Given the description of an element on the screen output the (x, y) to click on. 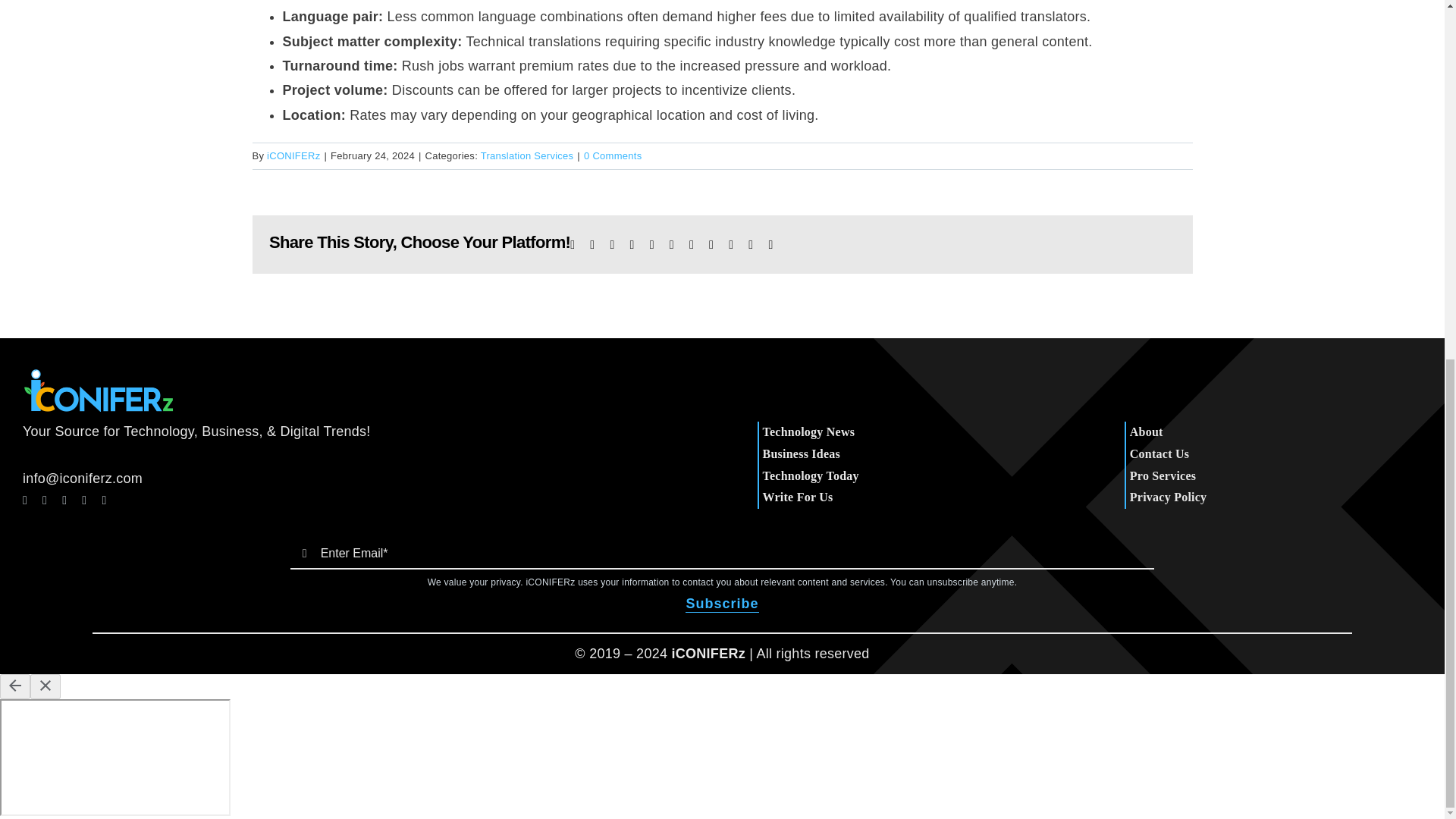
iCONIFERz (293, 155)
Posts by iCONIFERz (293, 155)
0 Comments (612, 155)
Translation Services (526, 155)
